Given the description of an element on the screen output the (x, y) to click on. 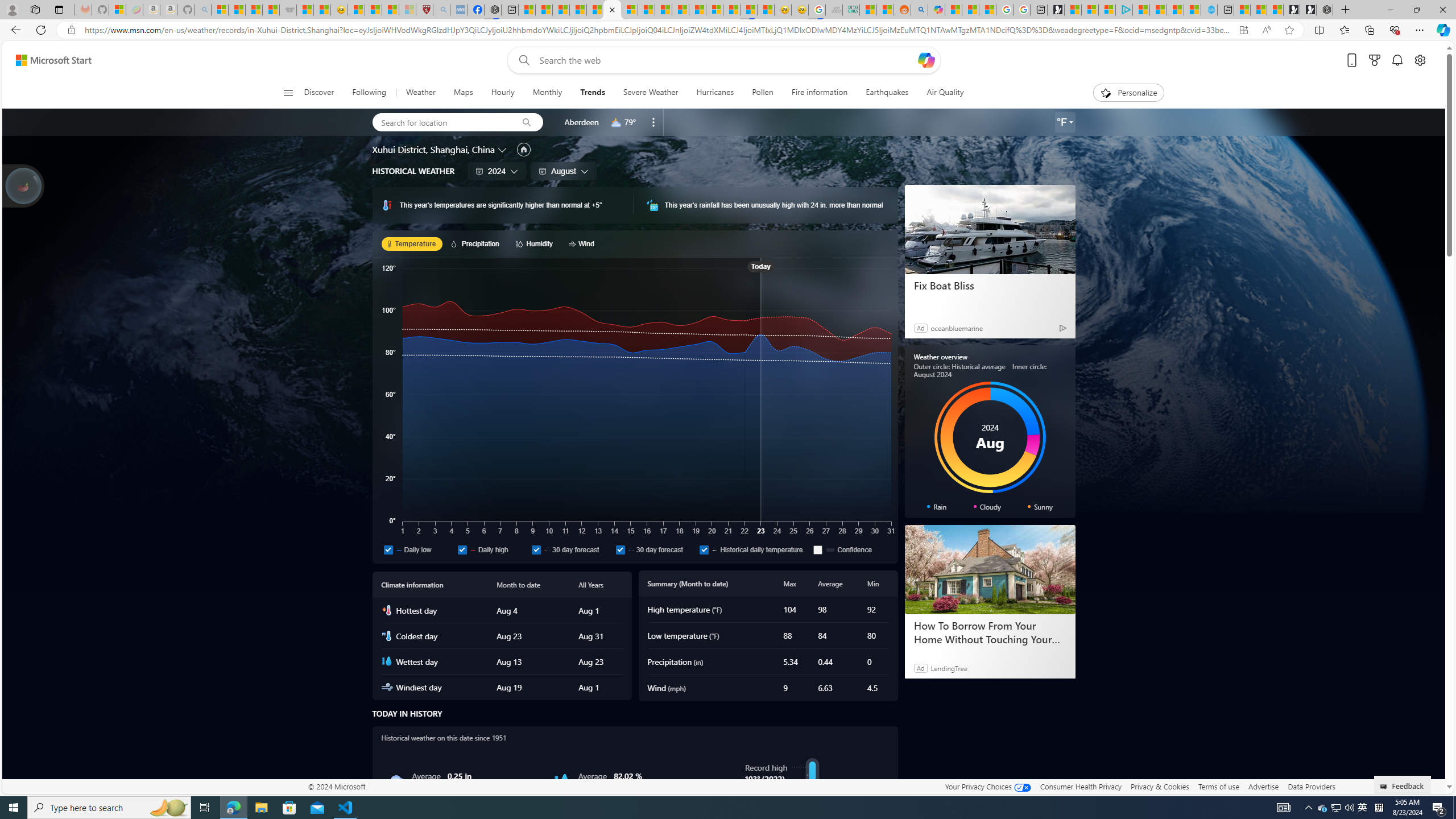
Fire information (818, 92)
Daily high (492, 549)
oceanbluemarine (956, 327)
Fire information (819, 92)
Fix Boat Bliss (988, 285)
Join us in planting real trees to help our planet! (23, 185)
